Given the description of an element on the screen output the (x, y) to click on. 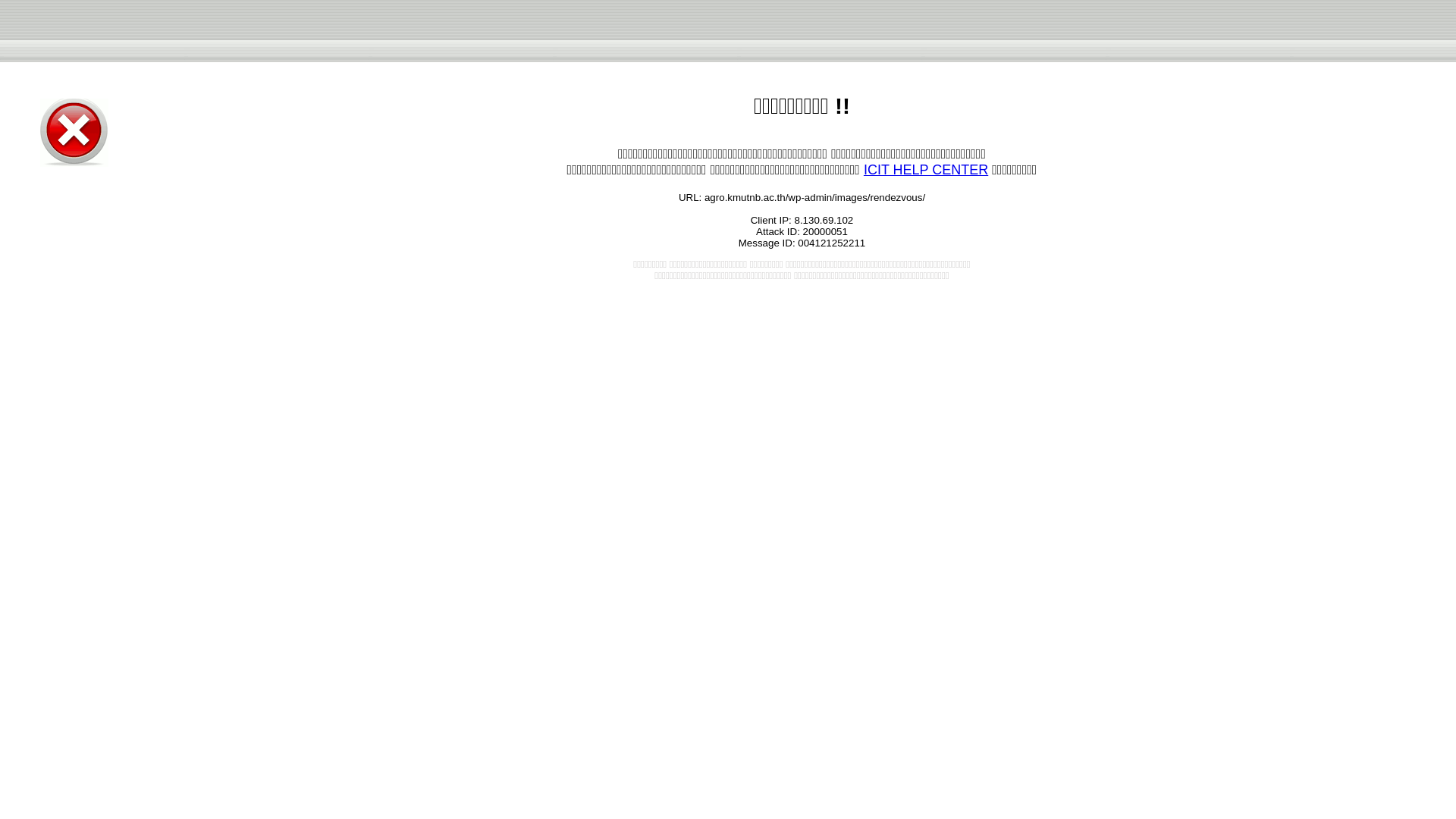
ICIT HELP CENTER (925, 169)
